Given the description of an element on the screen output the (x, y) to click on. 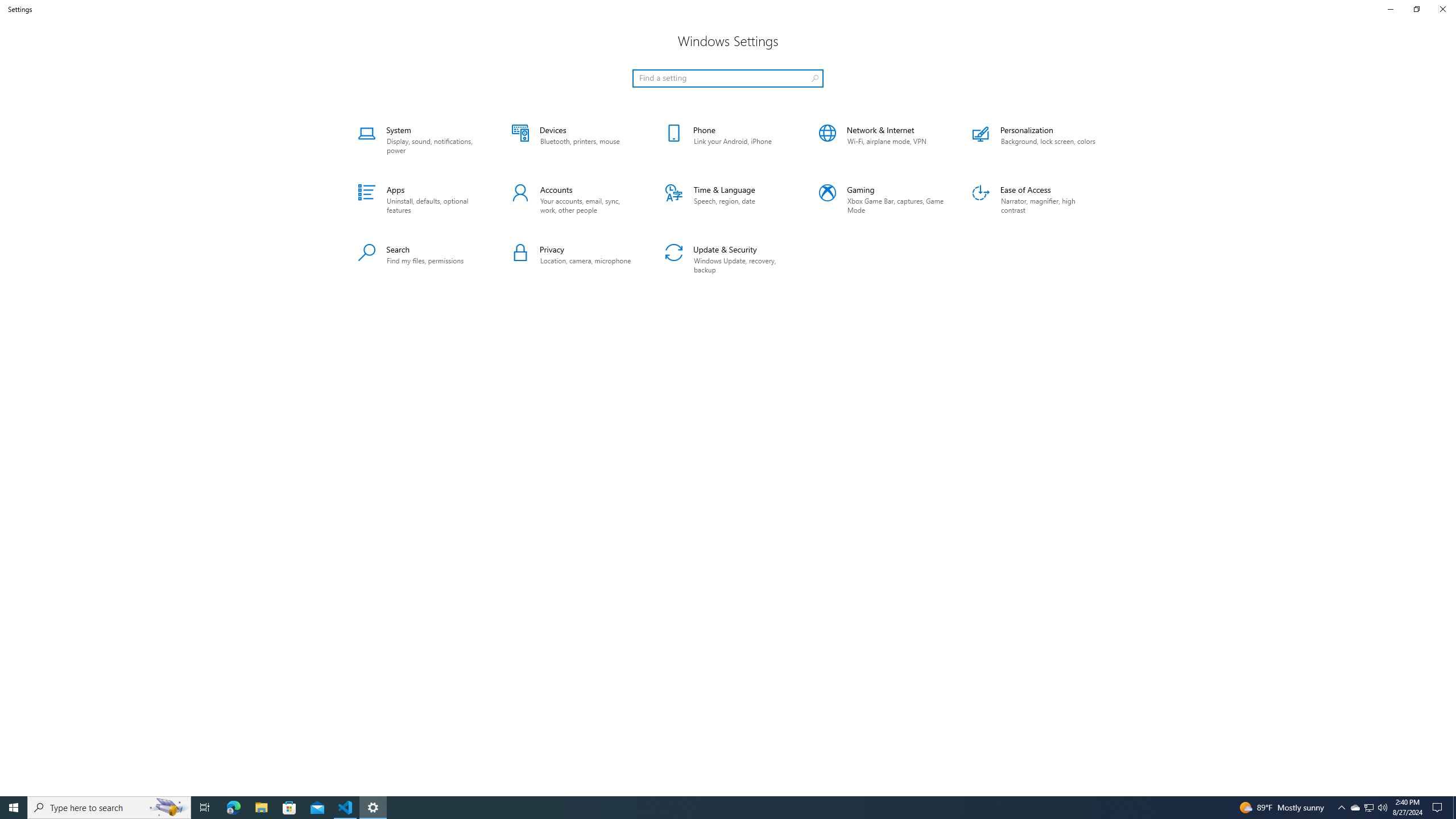
Network & Internet (881, 140)
Devices (574, 140)
Search box, Find a setting (727, 78)
Ease of Access (1034, 200)
System (420, 140)
Search (420, 259)
Close Settings (1442, 9)
Time & Language (727, 200)
